Given the description of an element on the screen output the (x, y) to click on. 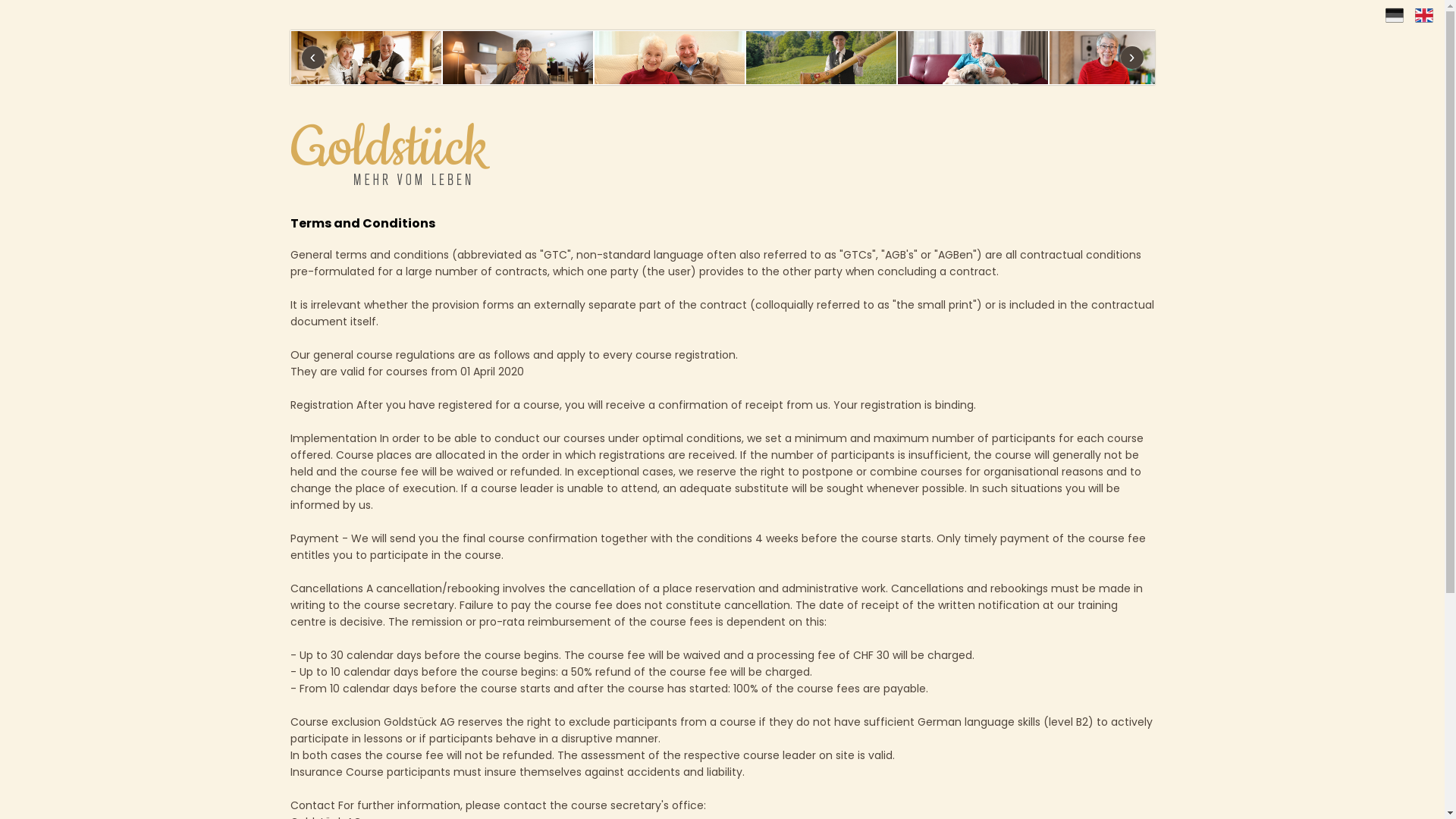
General terms and conditions Element type: text (368, 254)
